Given the description of an element on the screen output the (x, y) to click on. 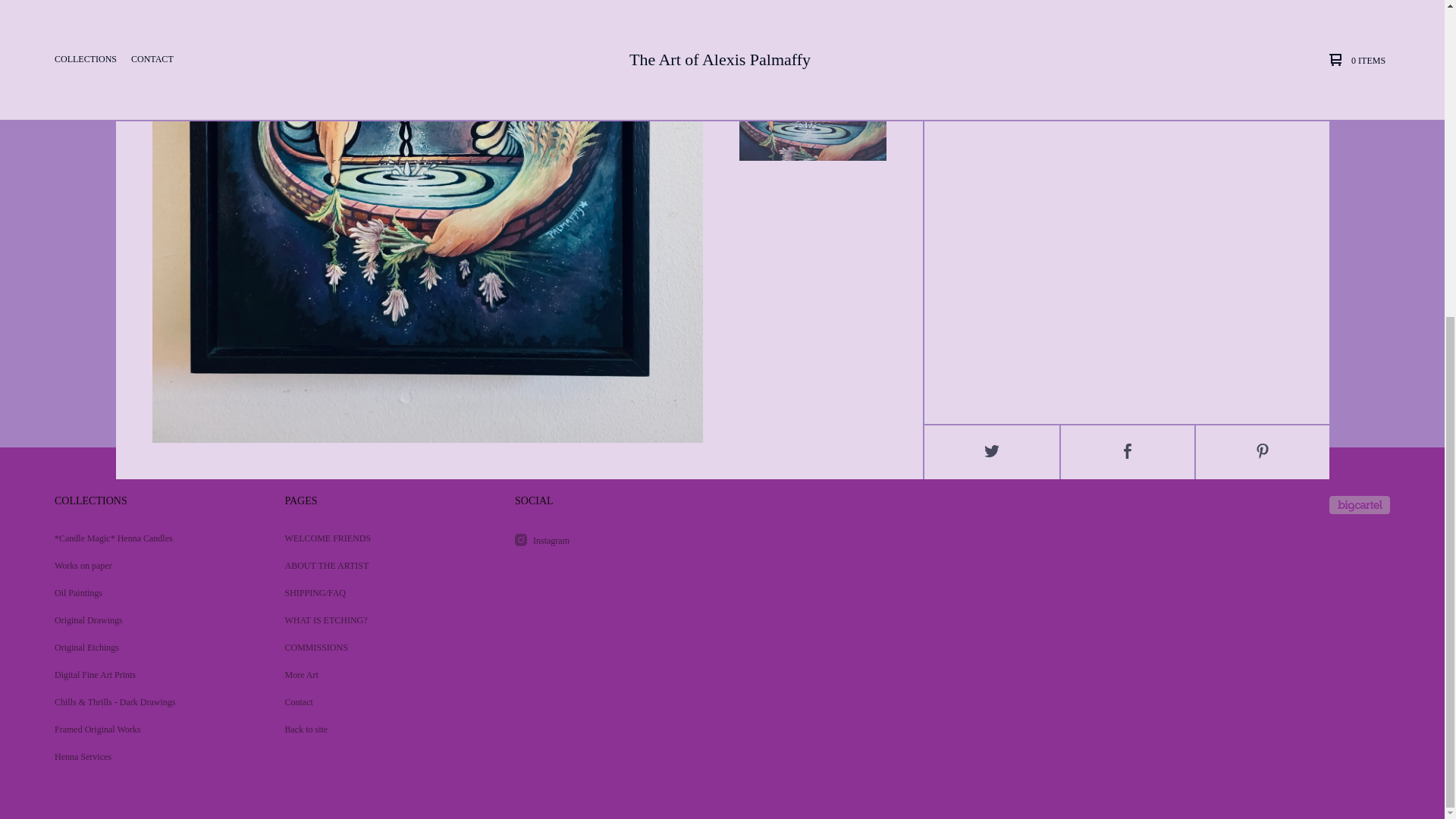
Original Etchings (149, 646)
Tweet (991, 452)
Contact (380, 701)
COMMISSIONS (380, 646)
ABOUT THE ARTIST (380, 565)
Henna Services (149, 756)
More Art (380, 674)
Original Drawings (149, 619)
Works on paper (149, 565)
WELCOME FRIENDS (380, 538)
